Given the description of an element on the screen output the (x, y) to click on. 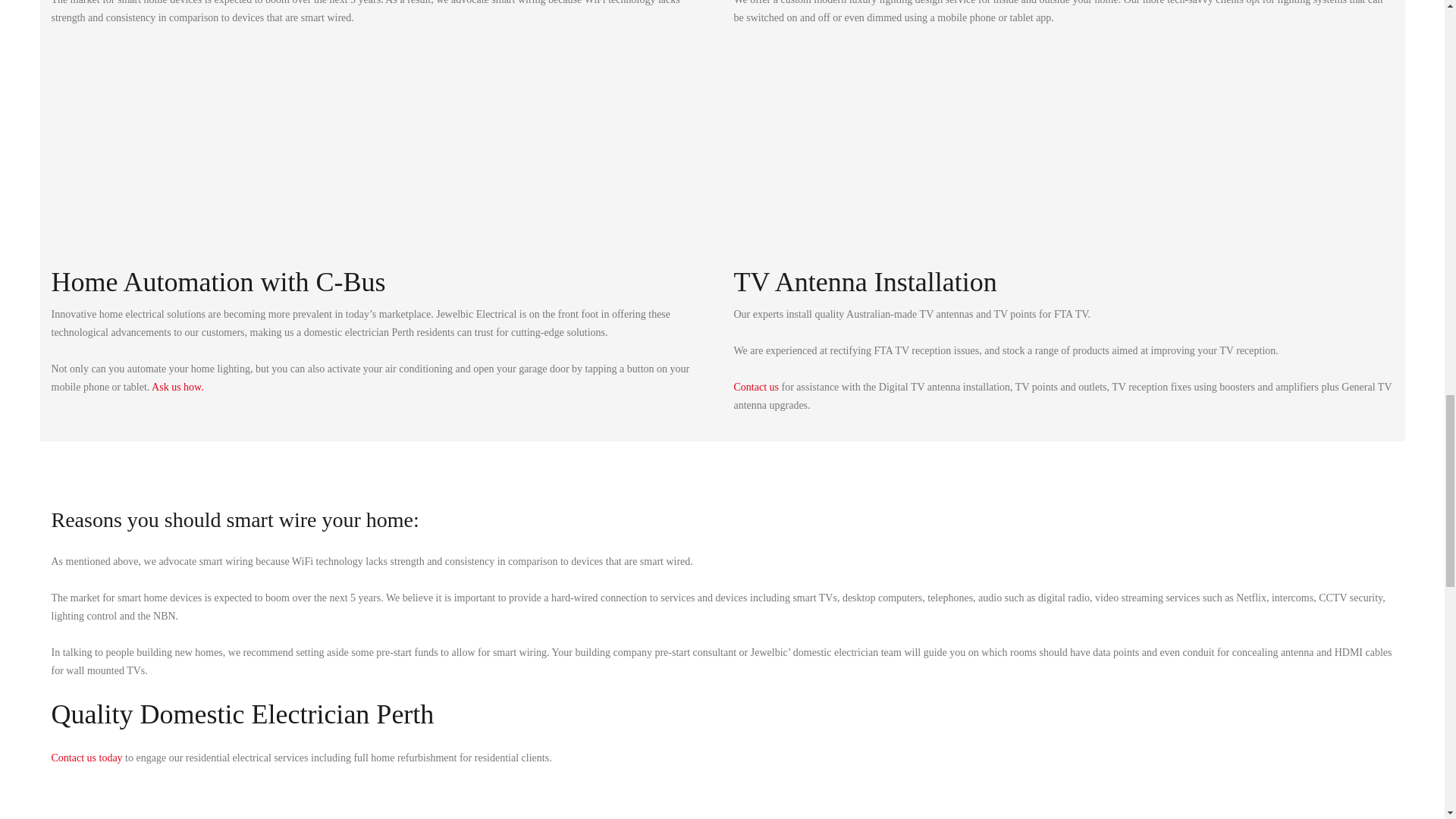
Contact us (755, 387)
Ask us how. (177, 387)
Contact us today (86, 757)
tv (889, 163)
home-automation (206, 163)
